Given the description of an element on the screen output the (x, y) to click on. 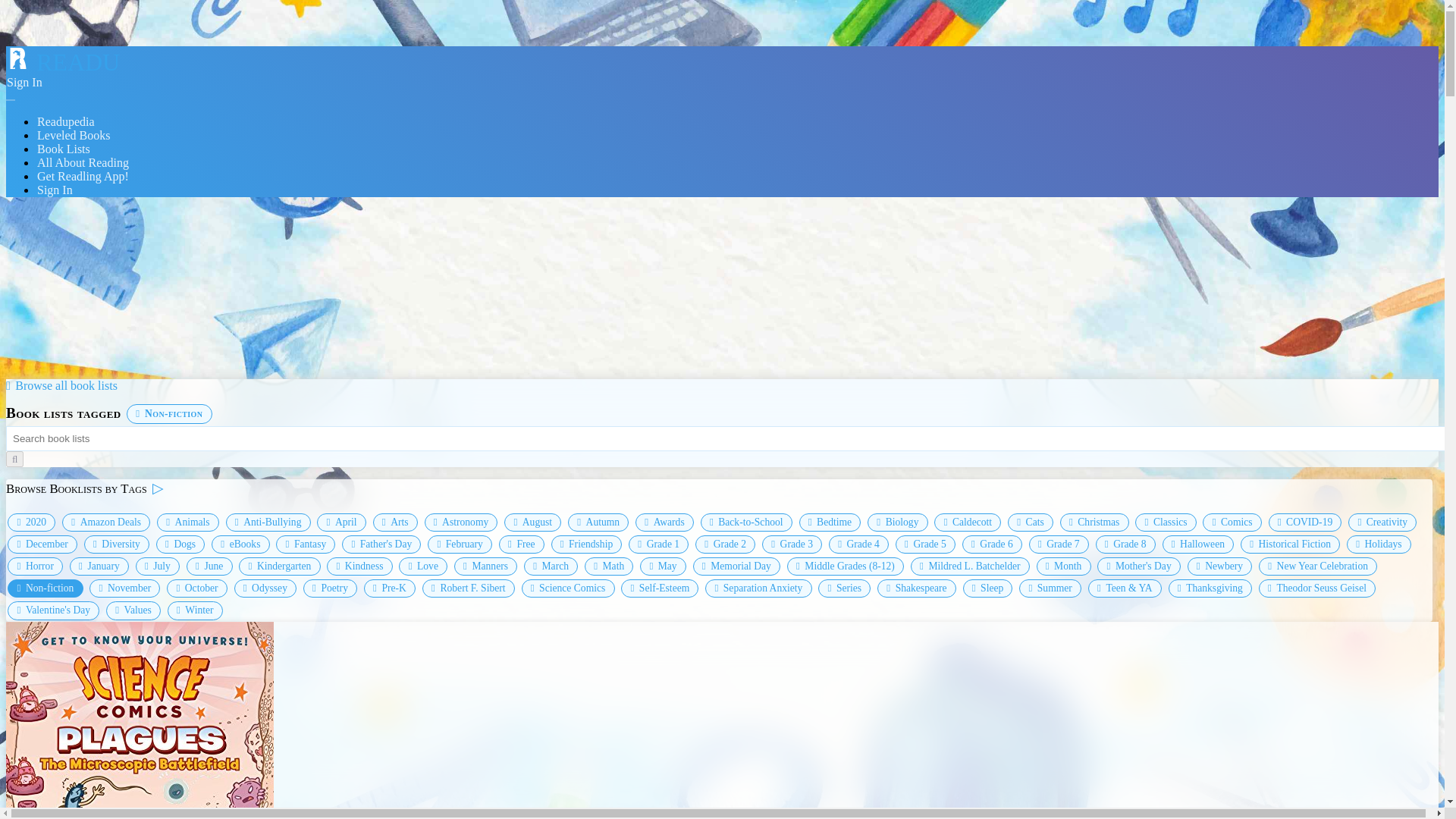
Comics (1231, 522)
Dogs (180, 544)
Readupedia (66, 121)
All About Reading (82, 162)
December (42, 544)
COVID-19 (1305, 522)
Get Readling App! (82, 175)
Biology (897, 522)
Anti-Bullying (268, 522)
Sign In (55, 189)
READU (62, 62)
Back-to-School (746, 522)
Animals (188, 522)
Autumn (597, 522)
Christmas (1094, 522)
